Given the description of an element on the screen output the (x, y) to click on. 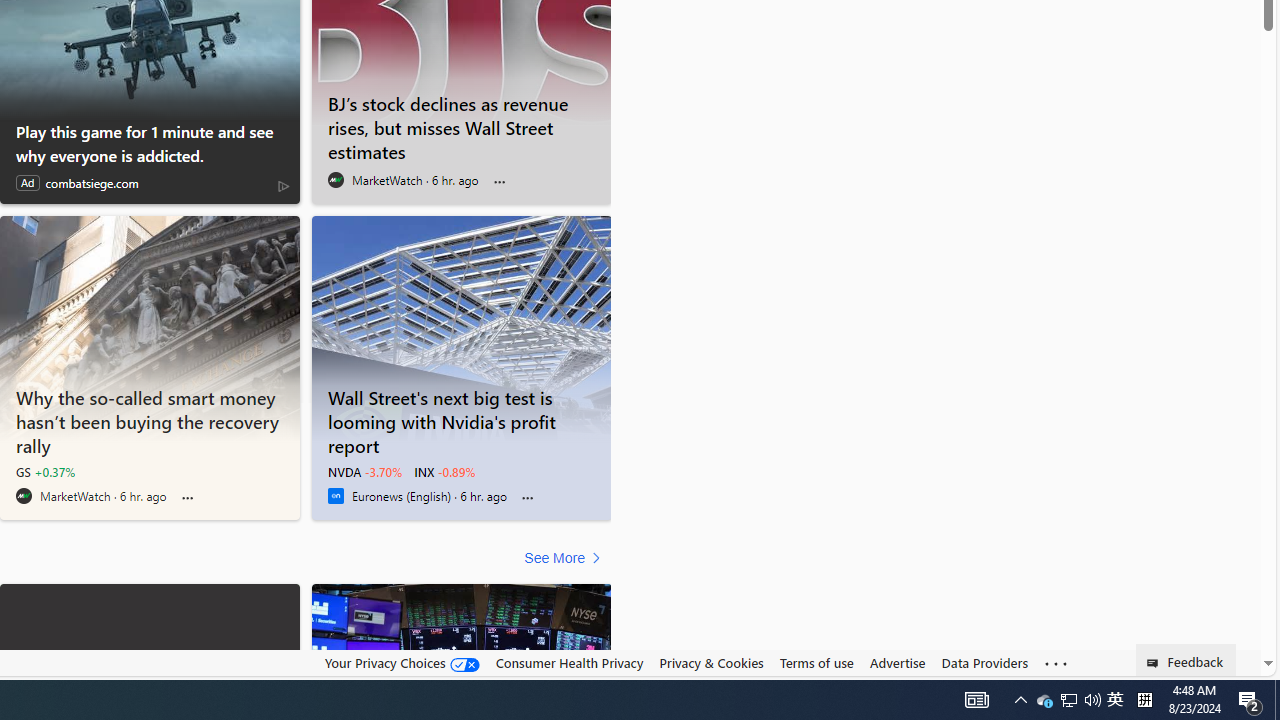
GS +0.37% (45, 471)
